Given the description of an element on the screen output the (x, y) to click on. 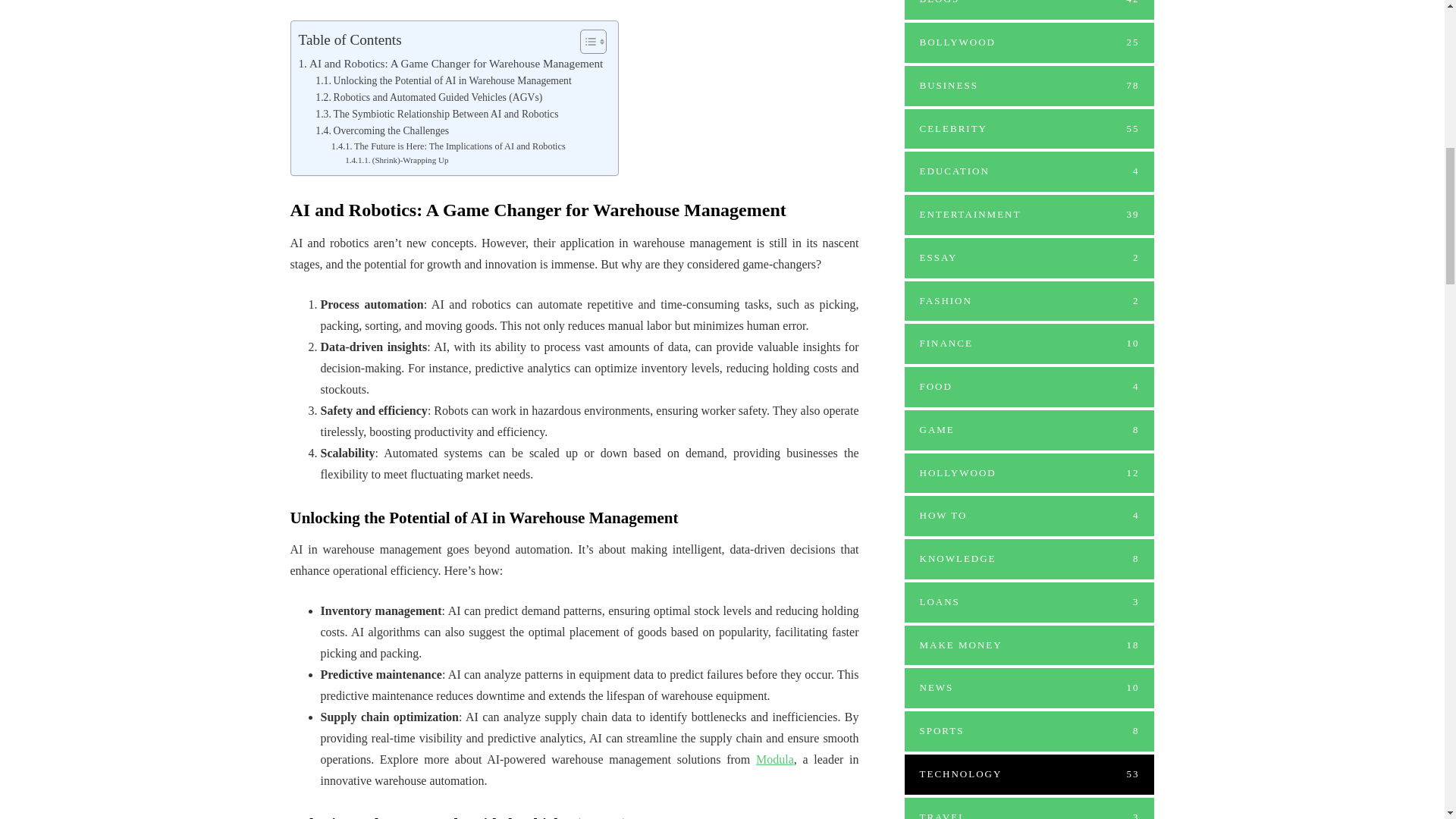
The Symbiotic Relationship Between AI and Robotics (436, 114)
Unlocking the Potential of AI in Warehouse Management (442, 80)
The Future is Here: The Implications of AI and Robotics (448, 146)
AI and Robotics: A Game Changer for Warehouse Management (451, 63)
Unlocking the Potential of AI in Warehouse Management (442, 80)
AI and Robotics: A Game Changer for Warehouse Management (451, 63)
Overcoming the Challenges (381, 130)
The Symbiotic Relationship Between AI and Robotics (436, 114)
Overcoming the Challenges (381, 130)
The Future is Here: The Implications of AI and Robotics (448, 146)
